Given the description of an element on the screen output the (x, y) to click on. 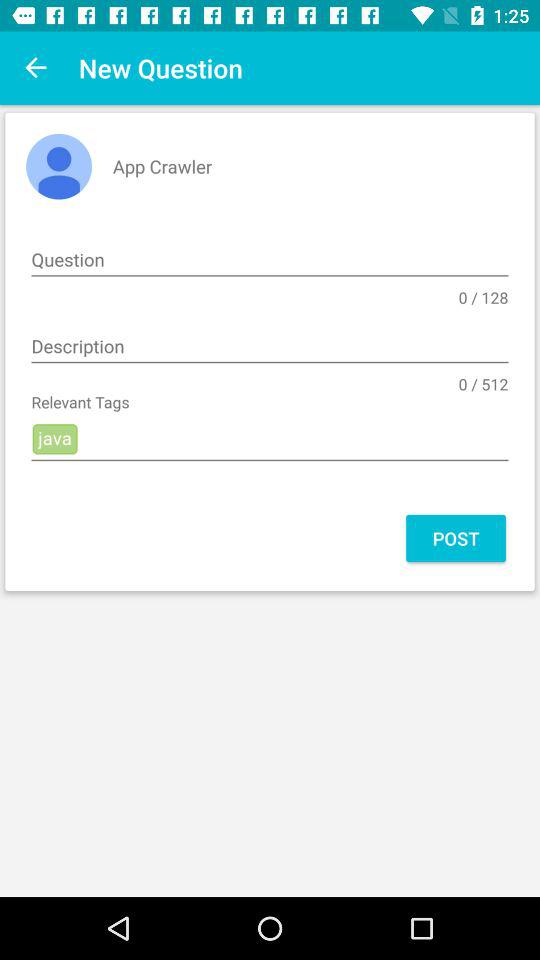
question (269, 260)
